Given the description of an element on the screen output the (x, y) to click on. 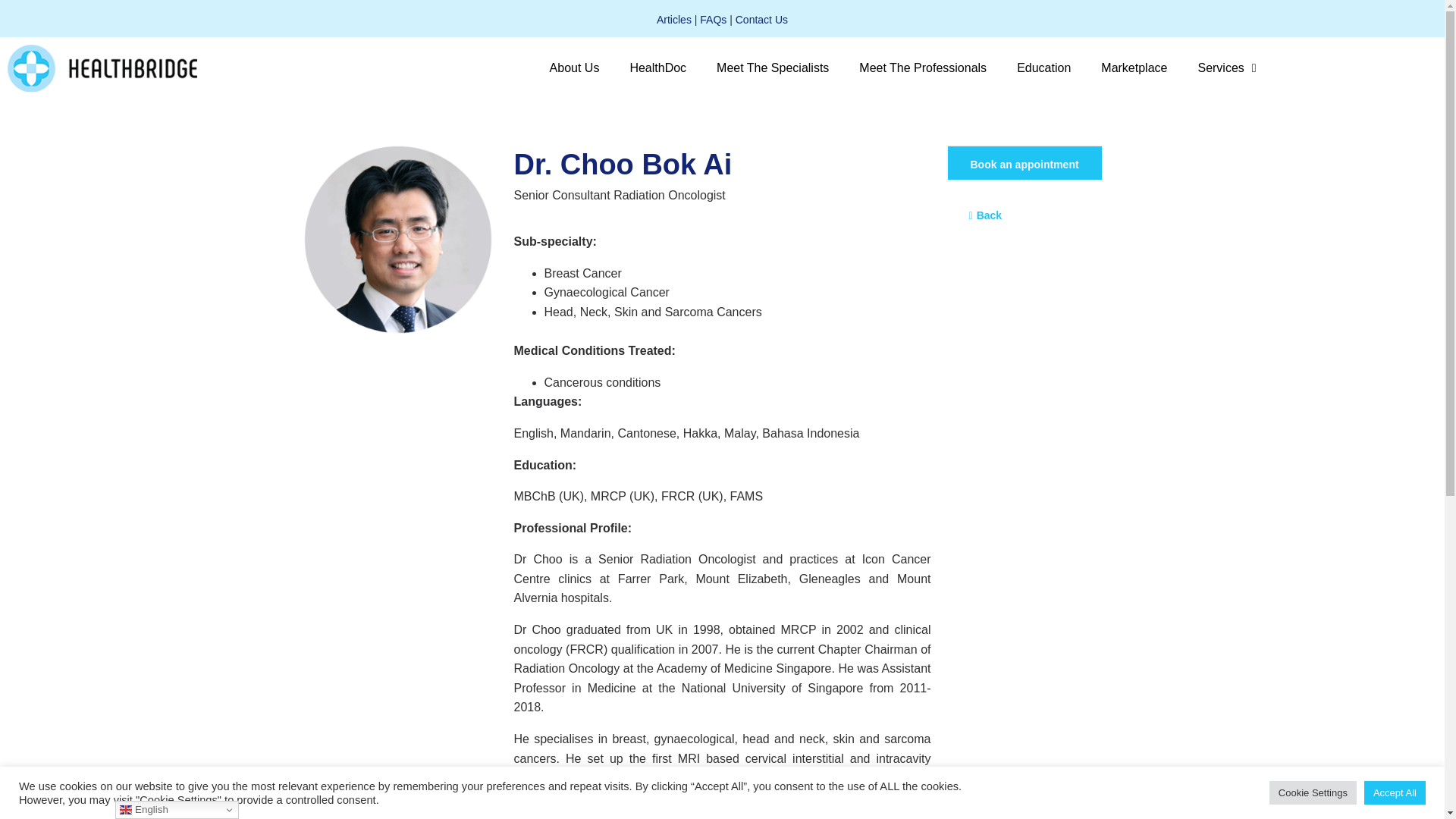
Articles (673, 19)
Education (1043, 67)
Meet The Specialists (772, 67)
Marketplace (1134, 67)
FAQs (713, 19)
About Us (574, 67)
Services (1226, 67)
HealthDoc (657, 67)
Contact Us (761, 19)
HealthBridge International (101, 68)
